Given the description of an element on the screen output the (x, y) to click on. 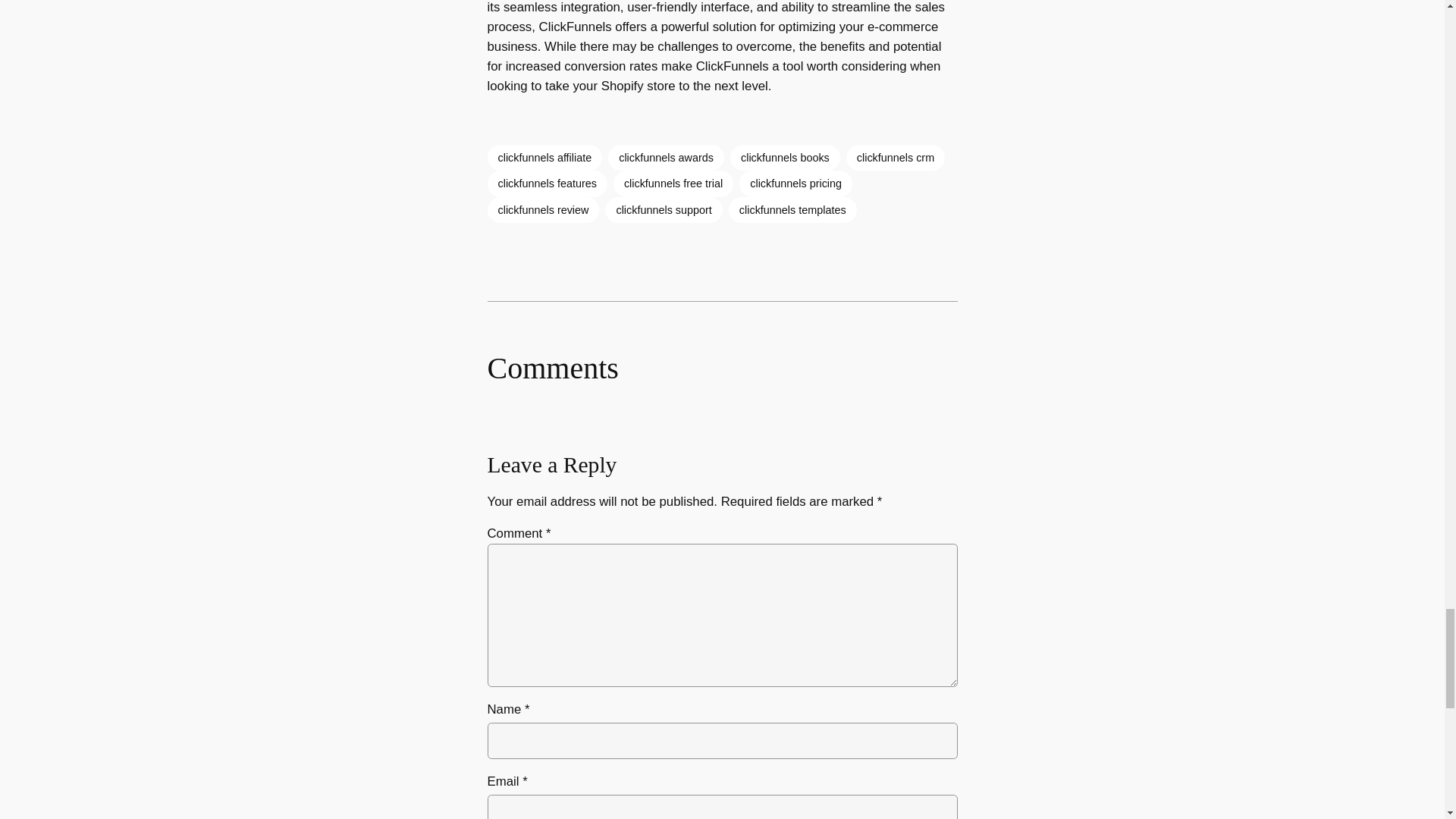
clickfunnels templates (793, 209)
clickfunnels pricing (795, 183)
clickfunnels features (546, 183)
clickfunnels awards (665, 157)
clickfunnels crm (894, 157)
clickfunnels free trial (672, 183)
clickfunnels review (542, 209)
clickfunnels support (663, 209)
clickfunnels affiliate (544, 157)
clickfunnels books (785, 157)
